Given the description of an element on the screen output the (x, y) to click on. 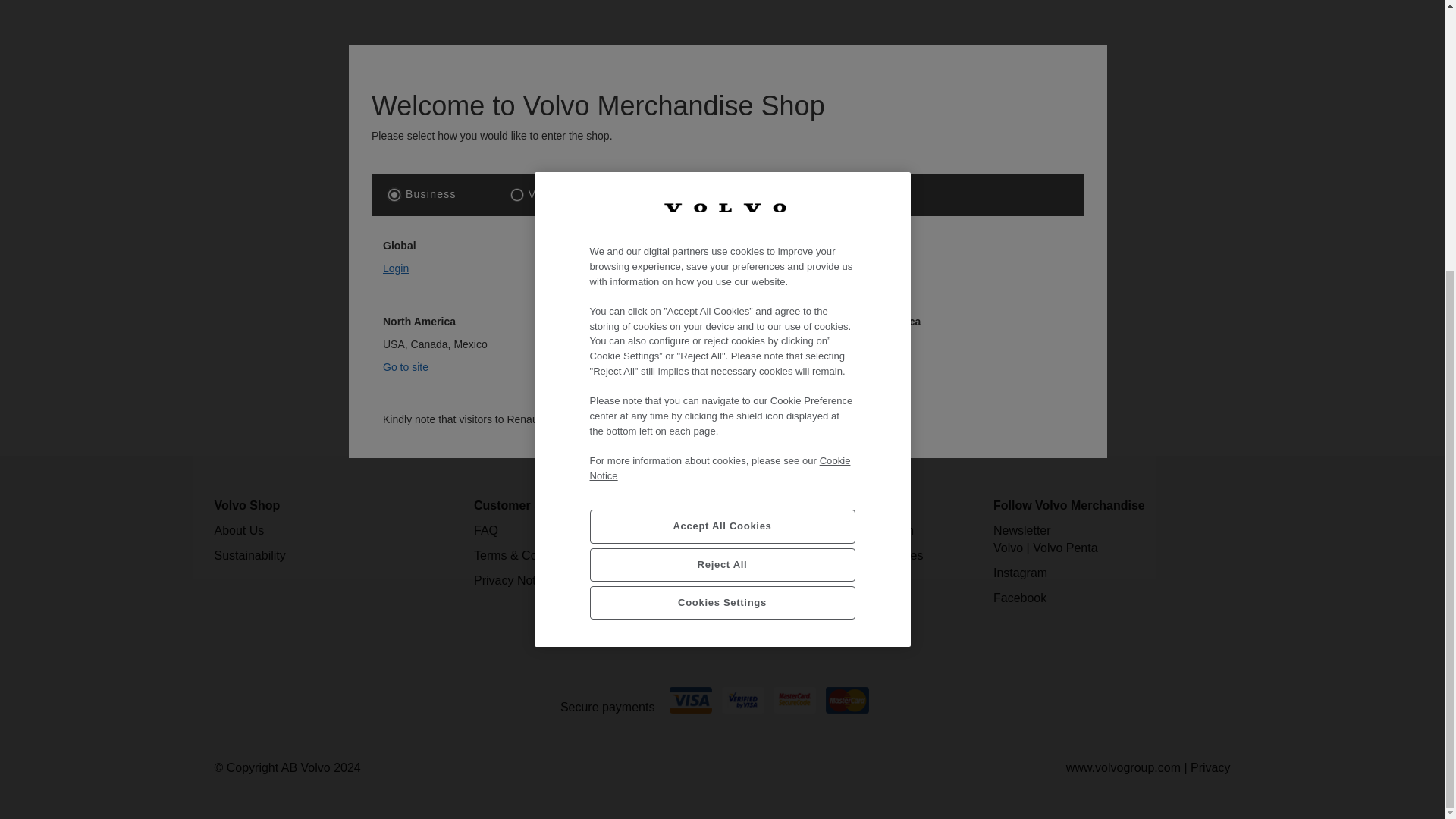
www.eshop.renault-trucks.com (804, 21)
